Given the description of an element on the screen output the (x, y) to click on. 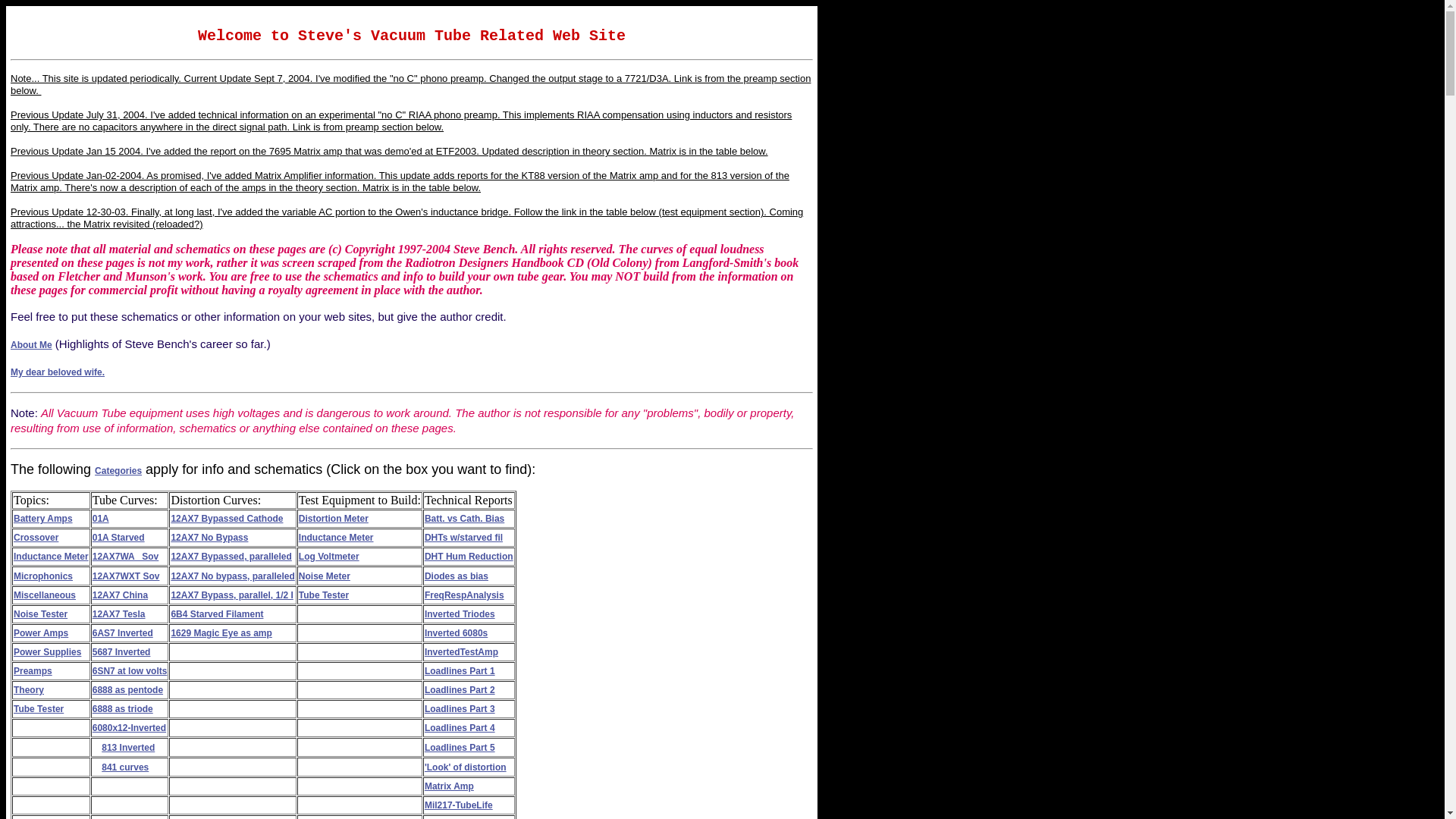
5687 Inverted (122, 652)
Noise Meter (324, 575)
Crossover (35, 537)
Miscellaneous (44, 594)
6AS7 Inverted (122, 633)
Tube Tester (323, 594)
Microphonics (42, 575)
12AX7 Bypassed, paralleled (230, 556)
12AX7 Bypassed Cathode (226, 518)
Preamps (32, 670)
Power Supplies (47, 652)
01A Starved (118, 537)
Batt. vs Cath. Bias (464, 518)
6B4 Starved Filament (216, 614)
Inductance Meter (336, 537)
